Given the description of an element on the screen output the (x, y) to click on. 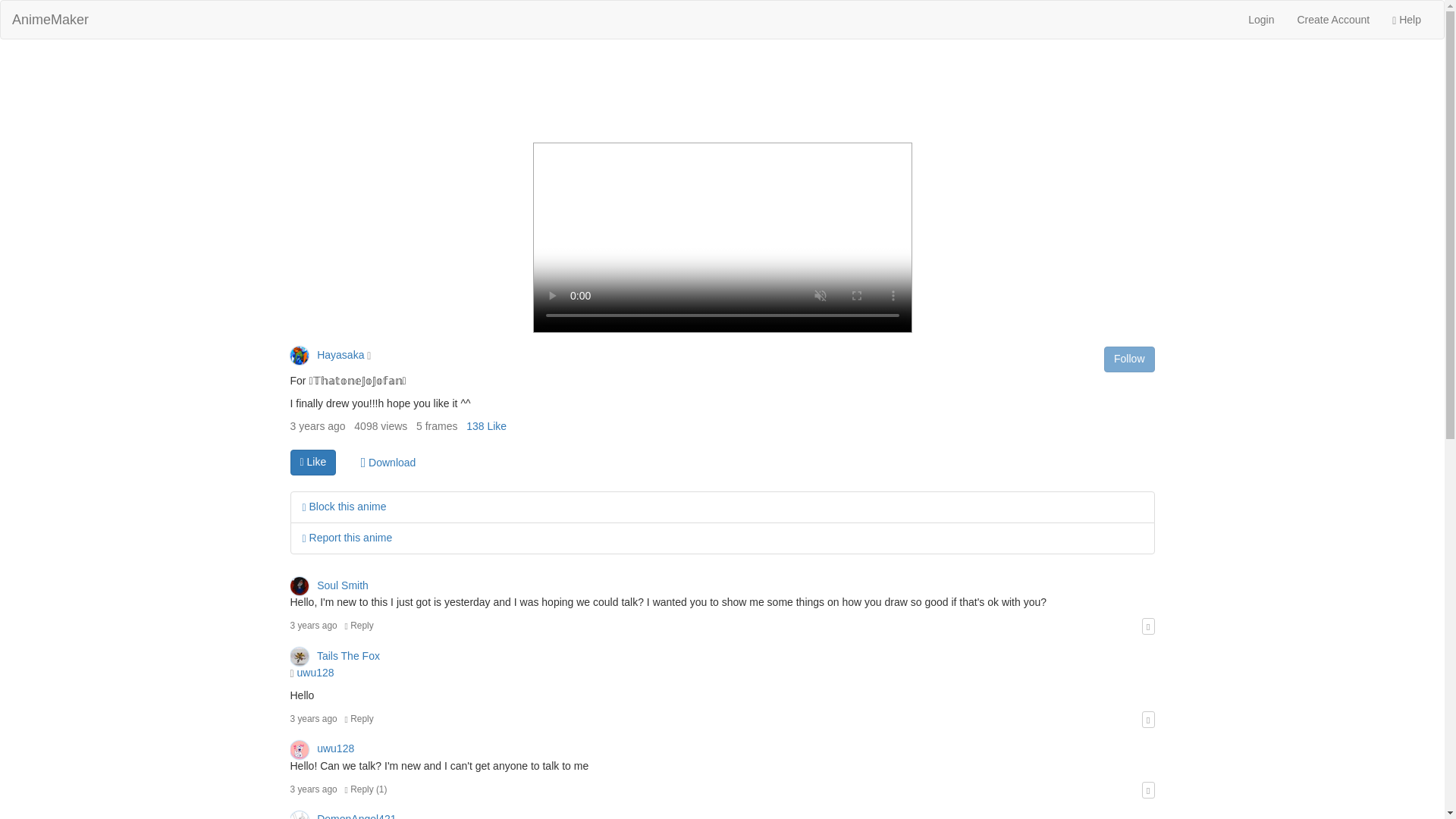
Follow (1128, 359)
Follow (1128, 359)
  Hayasaka (327, 354)
Create Account (1332, 19)
Block this anime (343, 506)
Reply (359, 718)
138 Like (485, 426)
  uwu128 (321, 748)
  DemonAngel421 (342, 816)
Help (1406, 19)
